Given the description of an element on the screen output the (x, y) to click on. 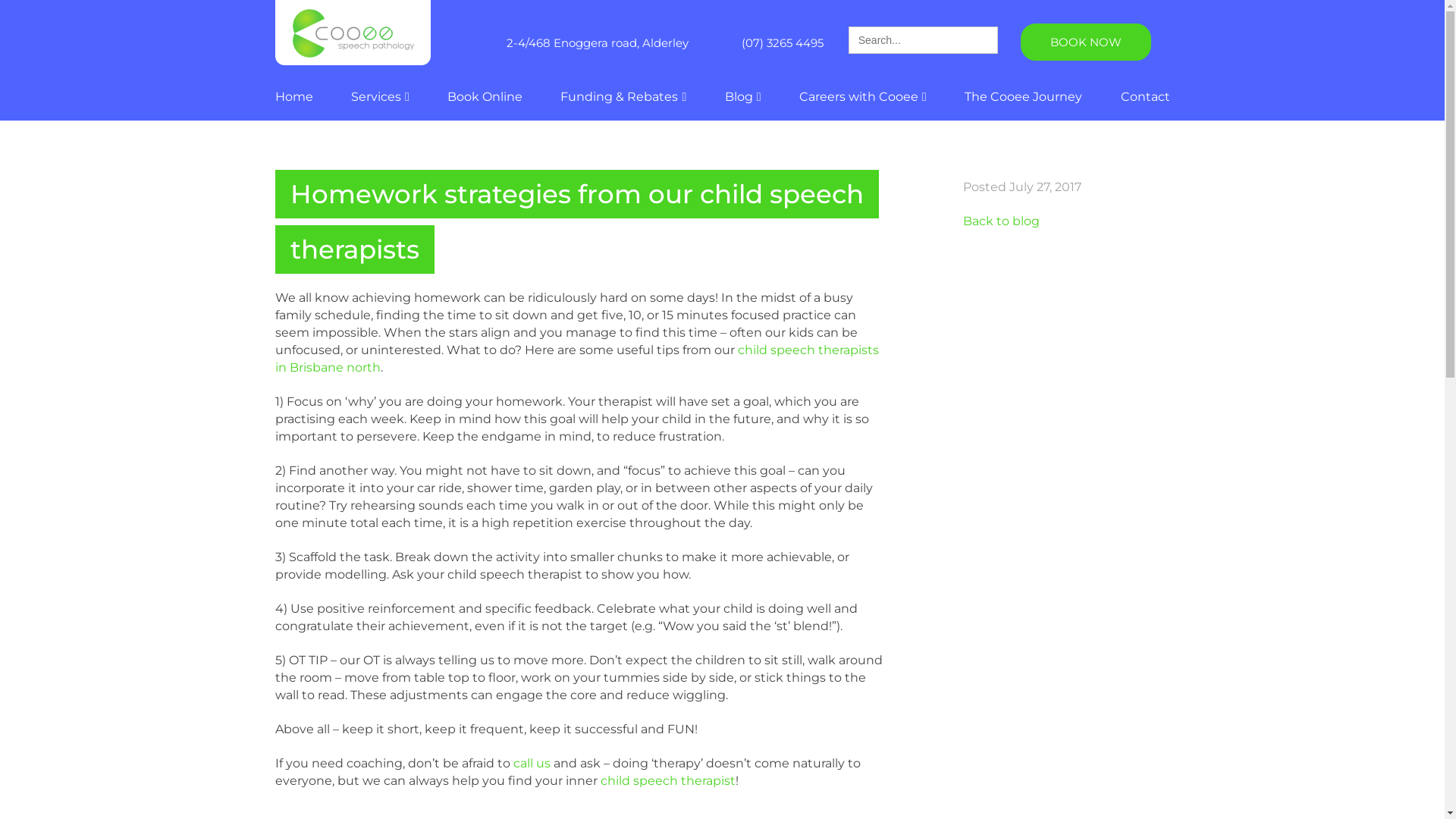
2-4/468 Enoggera road, Alderley Element type: text (597, 42)
(07) 3265 4495 Element type: text (782, 42)
child speech therapists in Brisbane north Element type: text (576, 358)
Contact Element type: text (1145, 96)
BOOK NOW Element type: text (1085, 41)
Home Element type: text (293, 96)
Blog Element type: text (742, 103)
child speech therapist Element type: text (667, 780)
The Cooee Journey Element type: text (1023, 96)
Book Online Element type: text (484, 96)
Services Element type: text (380, 103)
Careers with Cooee Element type: text (862, 103)
Funding & Rebates Element type: text (623, 103)
Back to blog Element type: text (1001, 220)
call us Element type: text (530, 763)
